Given the description of an element on the screen output the (x, y) to click on. 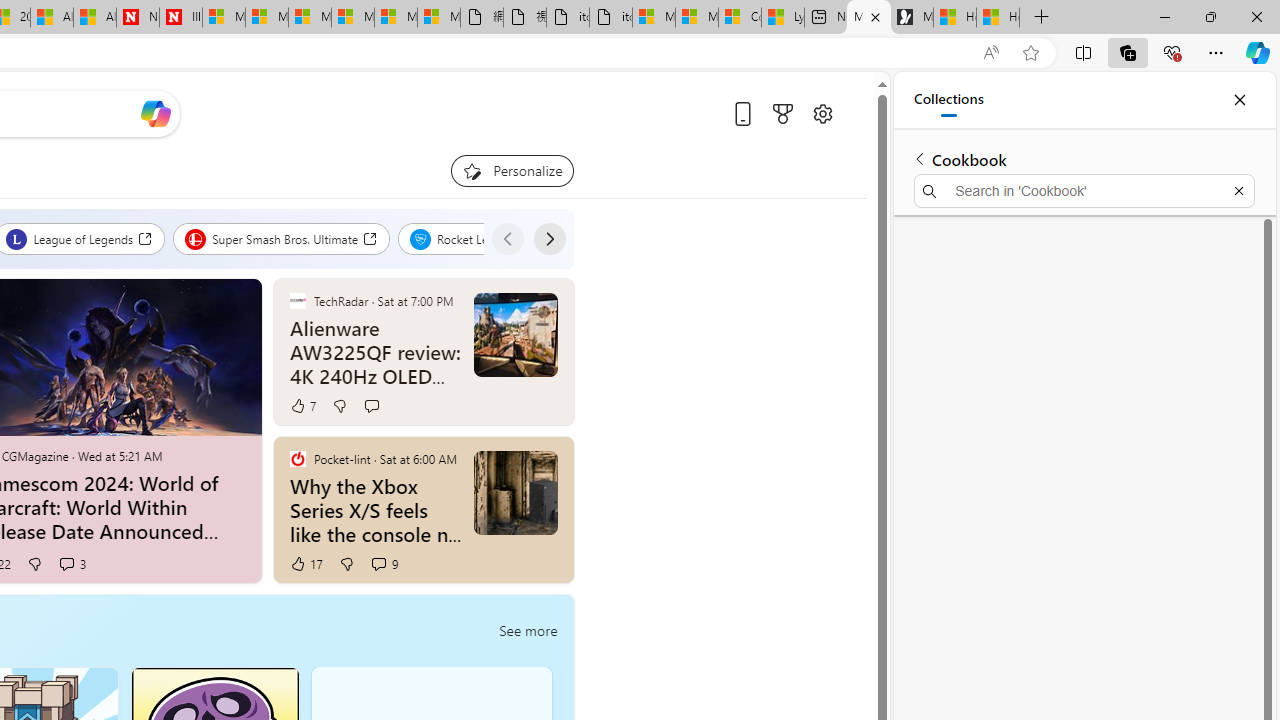
Super Smash Bros. Ultimate (282, 238)
Dislike (346, 564)
Hide this story (512, 460)
Pocket-lint (297, 458)
Search in 'Cookbook' (1084, 190)
See more (528, 630)
Next (548, 238)
itconcepthk.com/projector_solutions.mp4 (611, 17)
How to Use a TV as a Computer Monitor (997, 17)
